Given the description of an element on the screen output the (x, y) to click on. 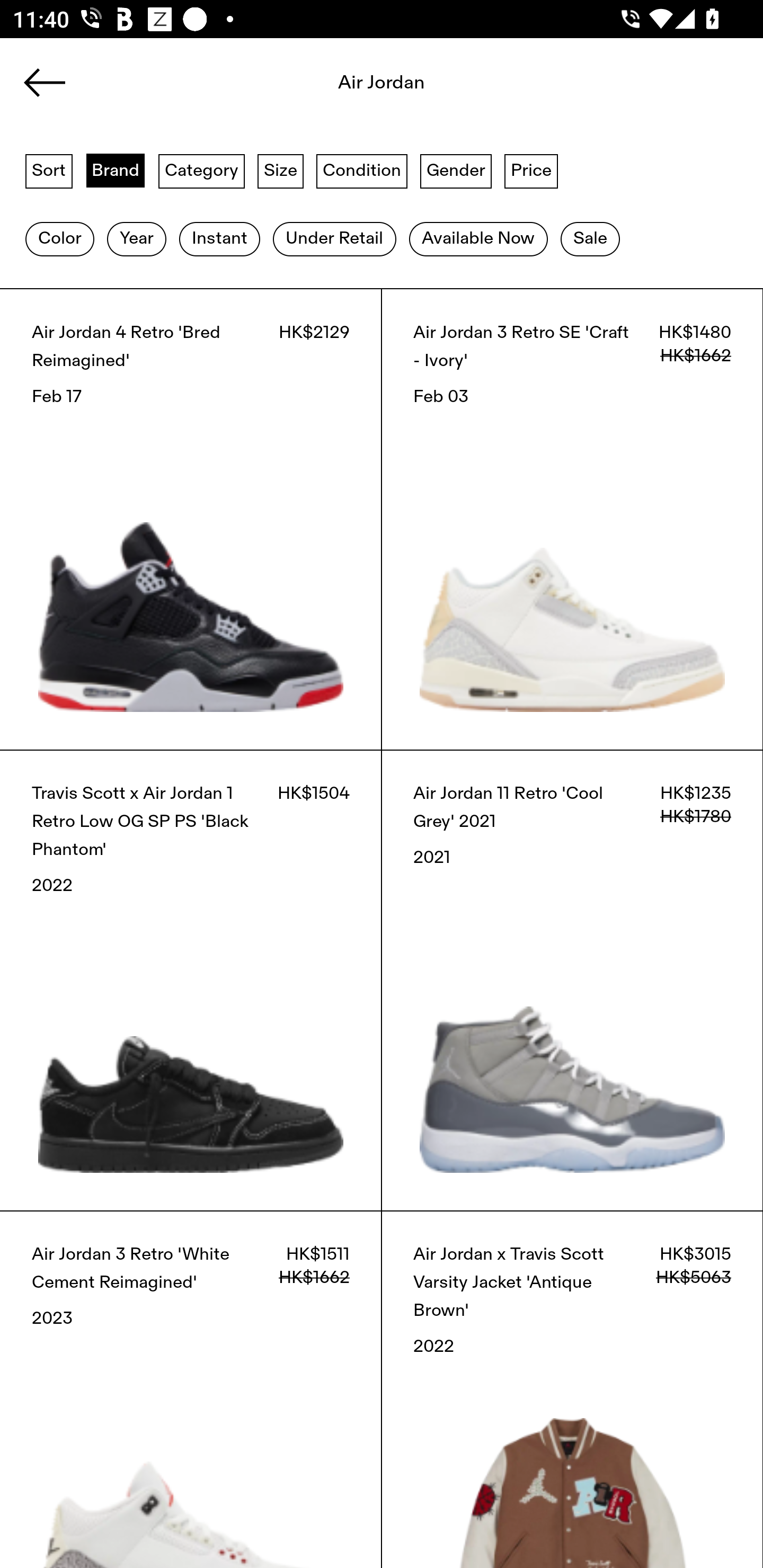
Sort (48, 170)
Brand (115, 170)
Category (201, 170)
Size (280, 170)
Condition (361, 170)
Gender (455, 170)
Price (530, 170)
Color (59, 239)
Year (136, 239)
Instant (219, 239)
Under Retail (334, 239)
Available Now (477, 239)
Sale (589, 239)
